Given the description of an element on the screen output the (x, y) to click on. 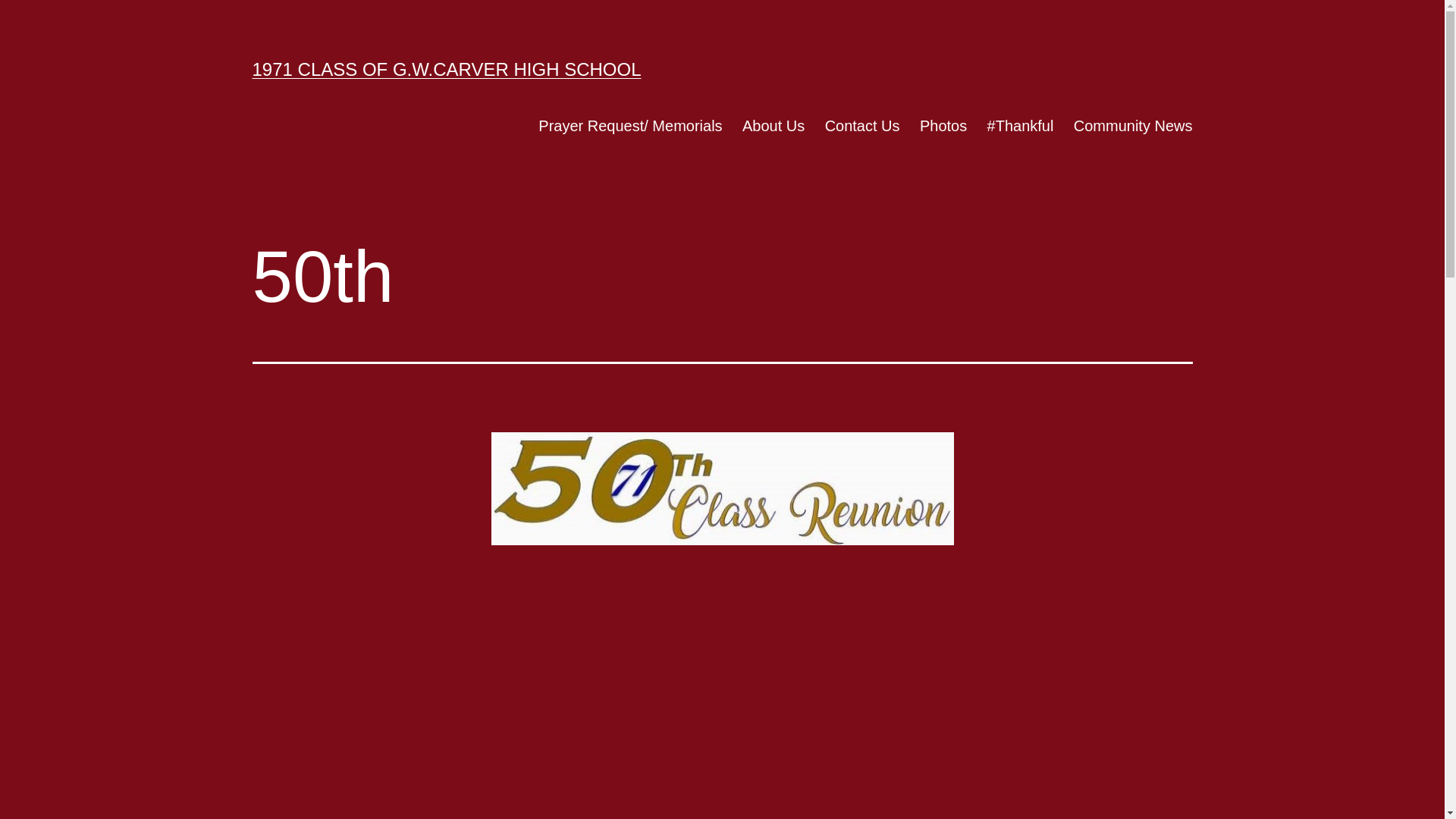
About Us Element type: text (773, 125)
Contact Us Element type: text (861, 125)
#Thankful Element type: text (1019, 125)
1971 CLASS OF G.W.CARVER HIGH SCHOOL Element type: text (445, 69)
Photos Element type: text (943, 125)
Community News Element type: text (1132, 125)
Prayer Request/ Memorials Element type: text (630, 125)
